Given the description of an element on the screen output the (x, y) to click on. 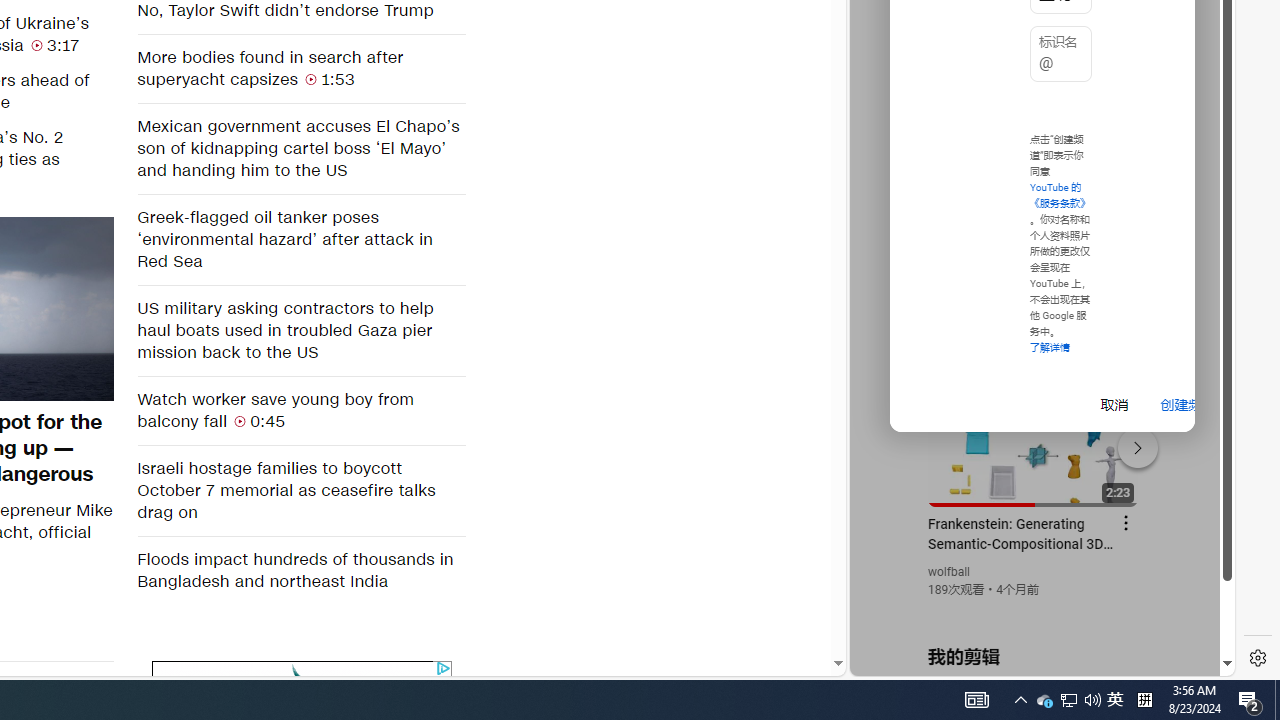
Class: dict_pnIcon rms_img (1028, 660)
AutomationID: 4105 (976, 699)
AutomationID: brandFlyLogo (302, 676)
Notification Chevron (1020, 699)
Action Center, 2 new notifications (1250, 699)
Watch worker save young boy from balcony fall 0:45 (300, 410)
YouTube - YouTube (1034, 266)
